Given the description of an element on the screen output the (x, y) to click on. 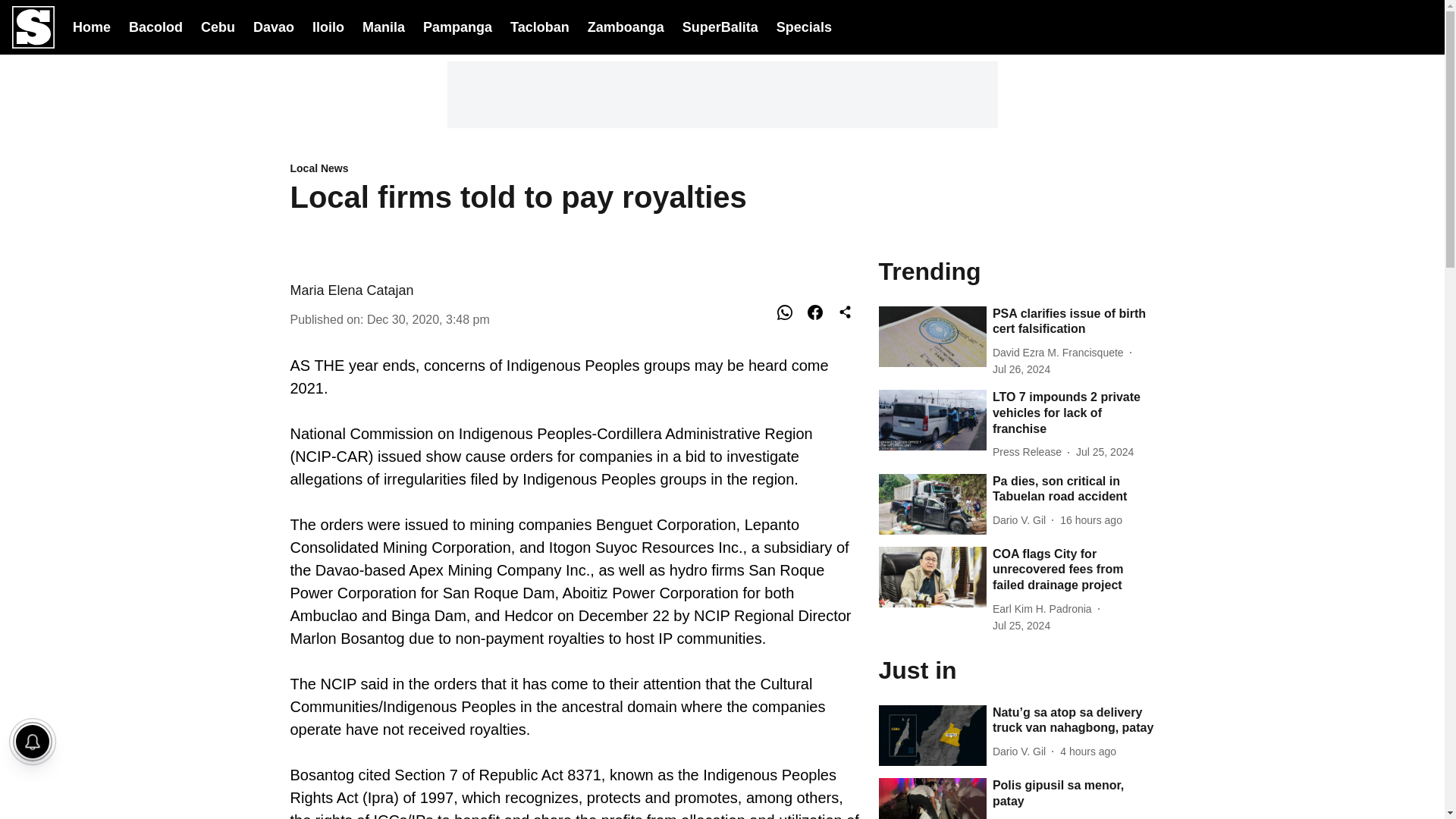
Local News (574, 169)
2024-07-25 06:25 (1104, 452)
Pampanga (457, 26)
SuperBalita (720, 27)
Home (91, 26)
2020-12-30 07:48 (427, 318)
David Ezra M. Francisquete (1060, 352)
2024-07-25 12:39 (1020, 625)
Trending (1015, 270)
LTO 7 impounds 2 private vehicles for lack of franchise (1073, 412)
Davao (273, 26)
PSA clarifies issue of birth cert falsification (1073, 322)
2024-07-27 14:10 (1087, 751)
Bacolod (156, 26)
